Given the description of an element on the screen output the (x, y) to click on. 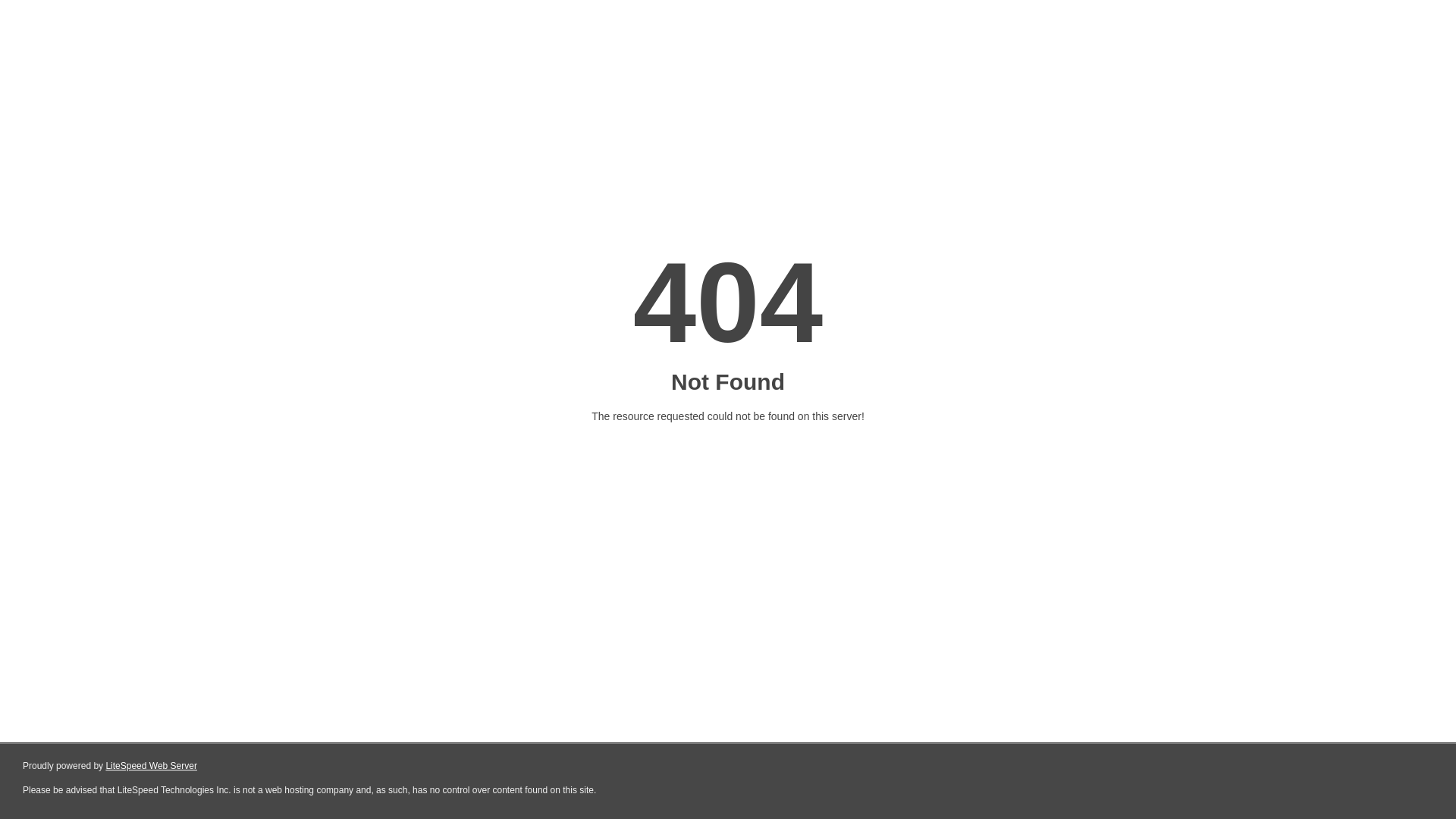
LiteSpeed Web Server Element type: text (151, 765)
